Given the description of an element on the screen output the (x, y) to click on. 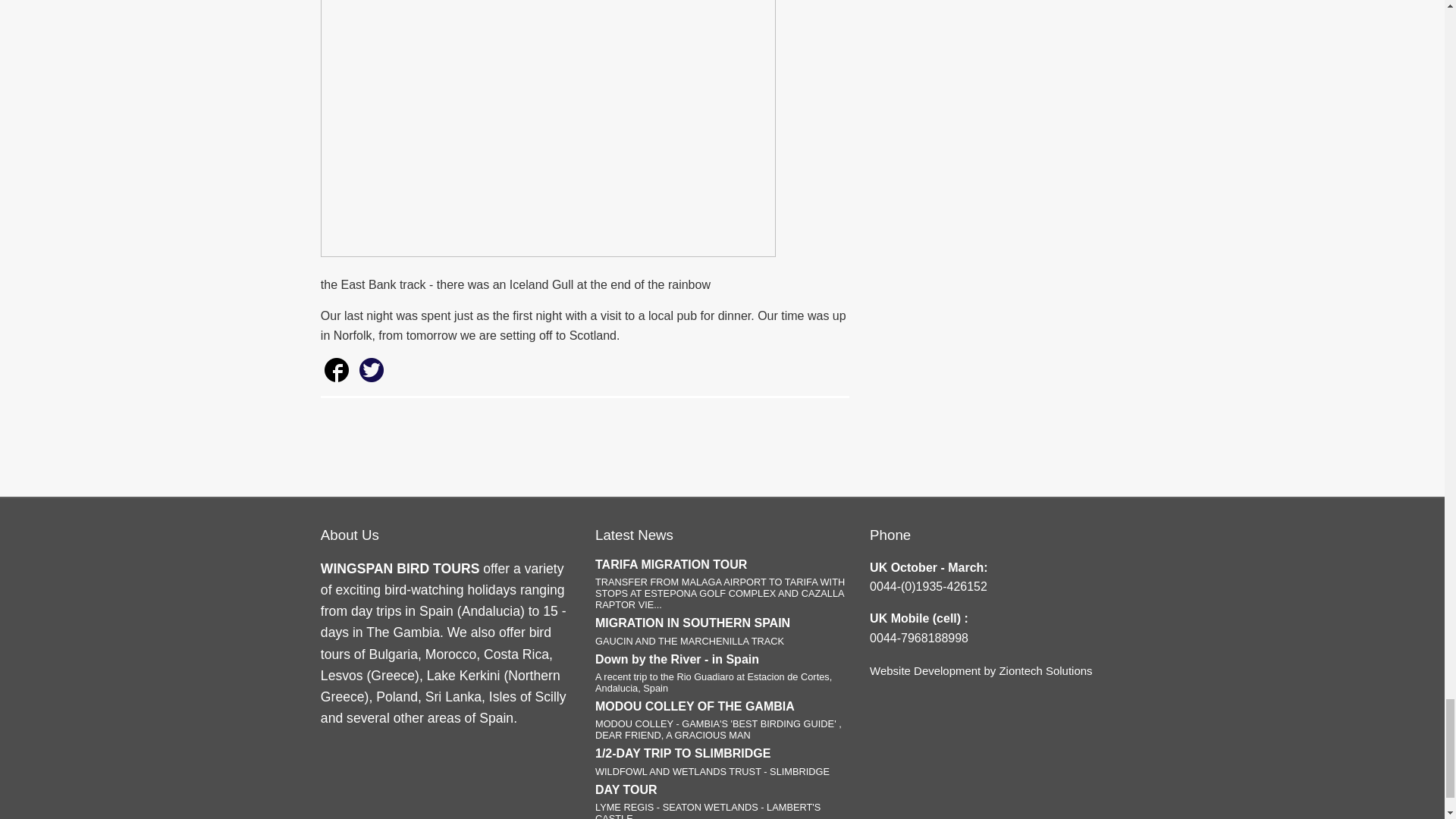
Ziontech Solutions (1045, 670)
Latest News (721, 631)
About Us (633, 534)
